Given the description of an element on the screen output the (x, y) to click on. 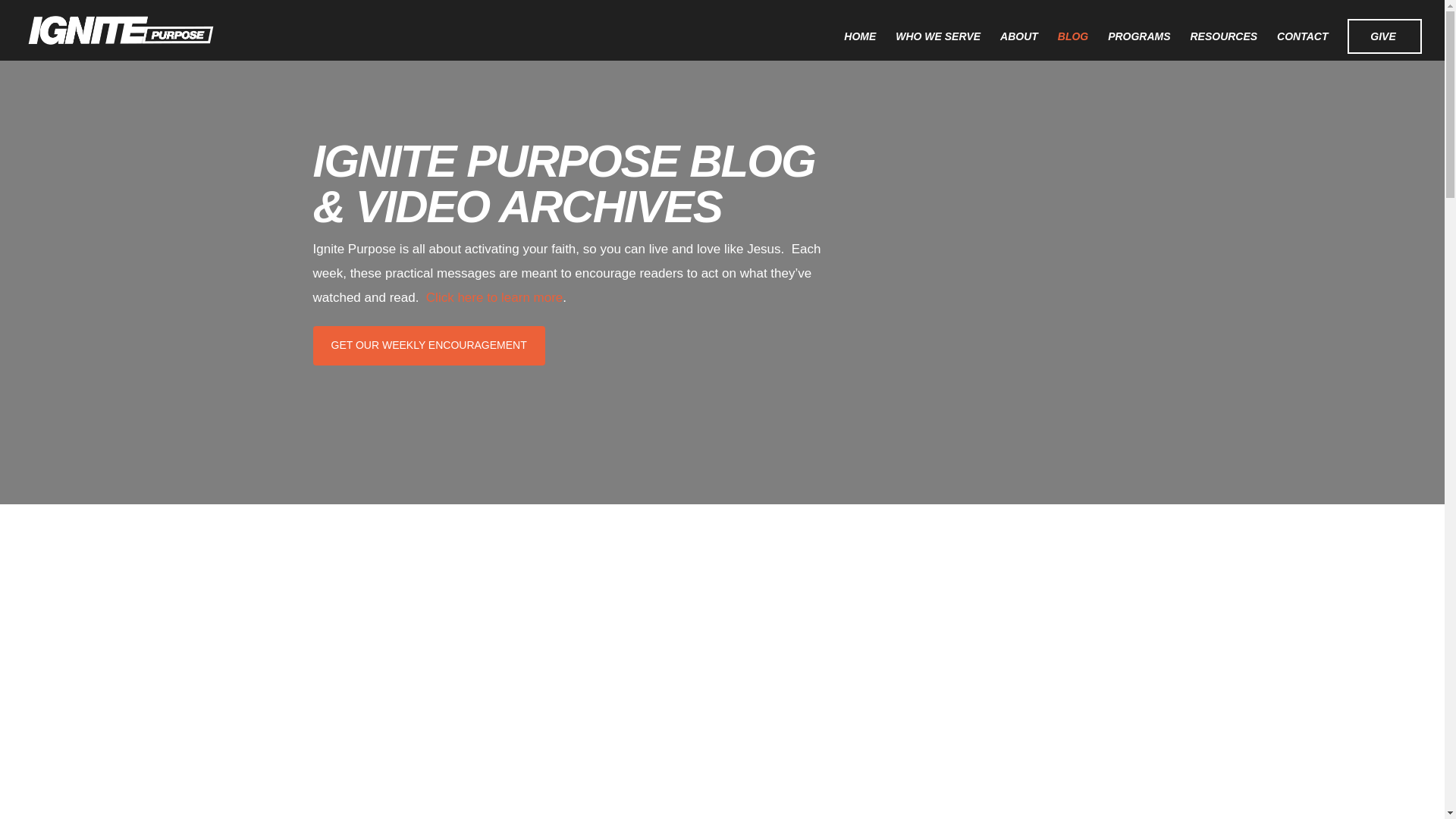
ABOUT (1019, 45)
CONTACT (1301, 45)
RESOURCES (1223, 45)
HOME (860, 45)
GET OUR WEEKLY ENCOURAGEMENT (428, 345)
Click here to learn more (494, 297)
BLOG (1072, 45)
GIVE (1385, 36)
PROGRAMS (1139, 45)
